Given the description of an element on the screen output the (x, y) to click on. 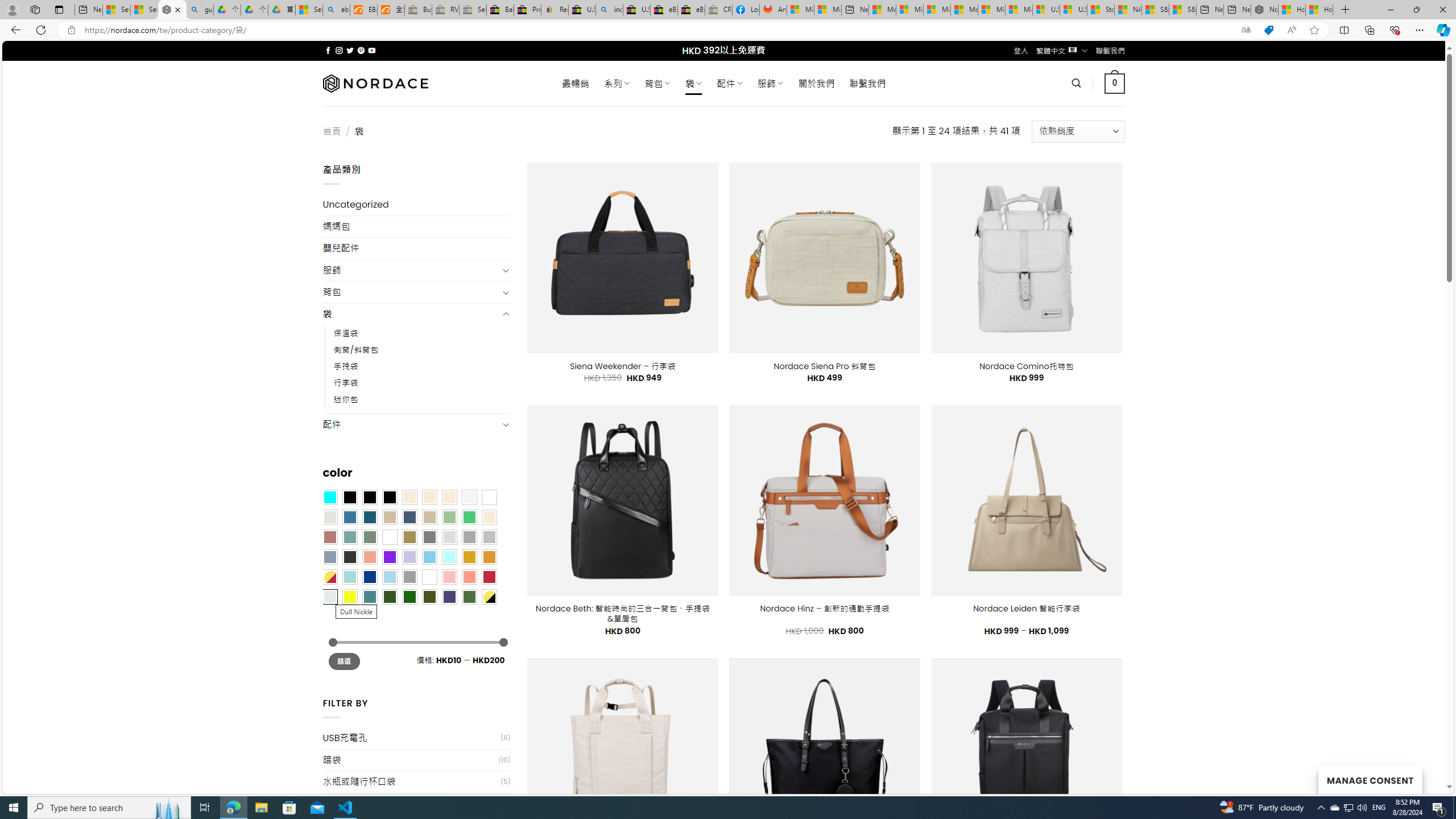
Log into Facebook (746, 9)
